Given the description of an element on the screen output the (x, y) to click on. 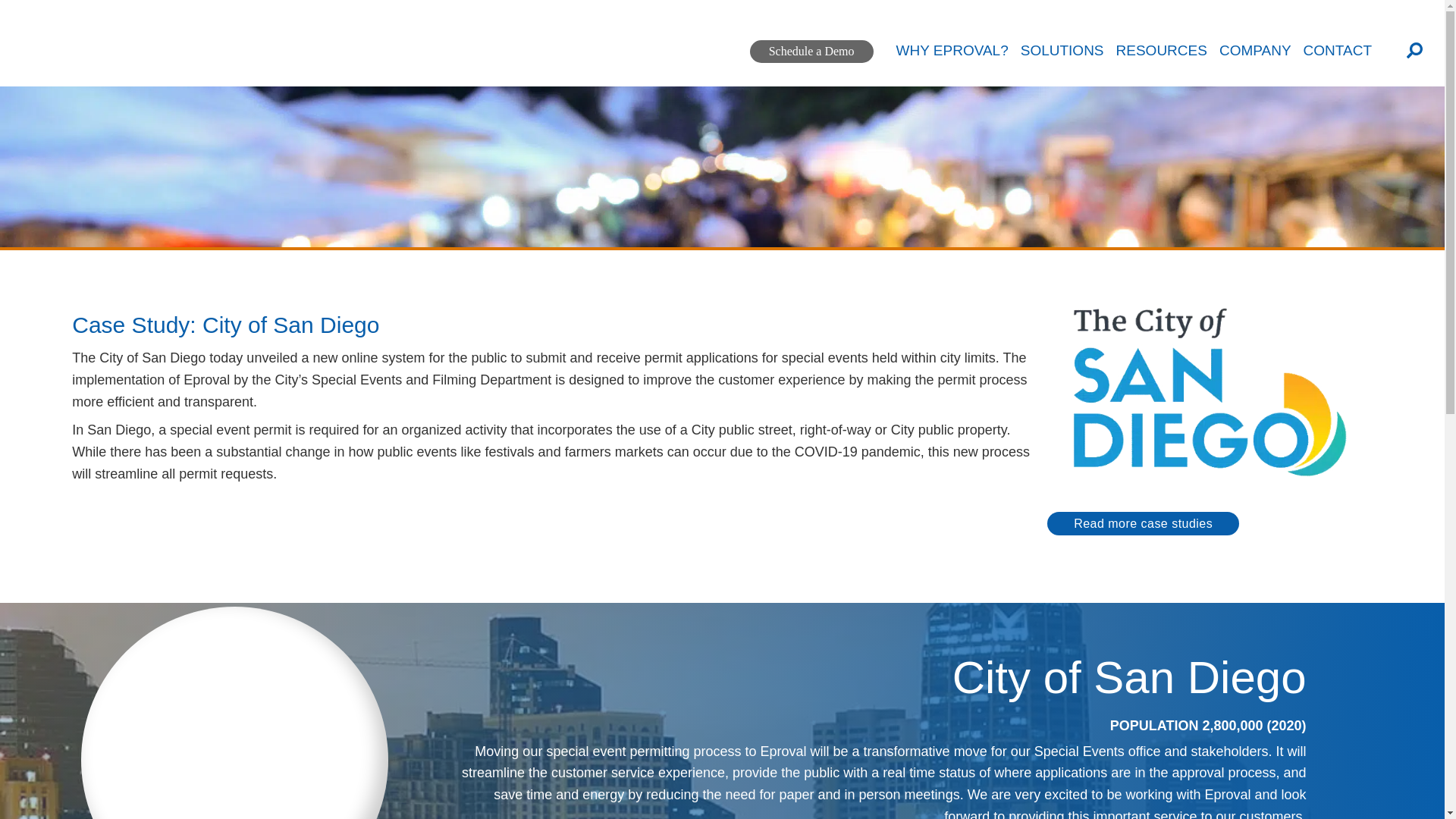
CONTACT (1337, 65)
SOLUTIONS (1061, 65)
COMPANY (1255, 65)
WHY EPROVAL? (952, 65)
RESOURCES (1161, 65)
Schedule a Demo (811, 51)
Read more case studies (1142, 523)
